Given the description of an element on the screen output the (x, y) to click on. 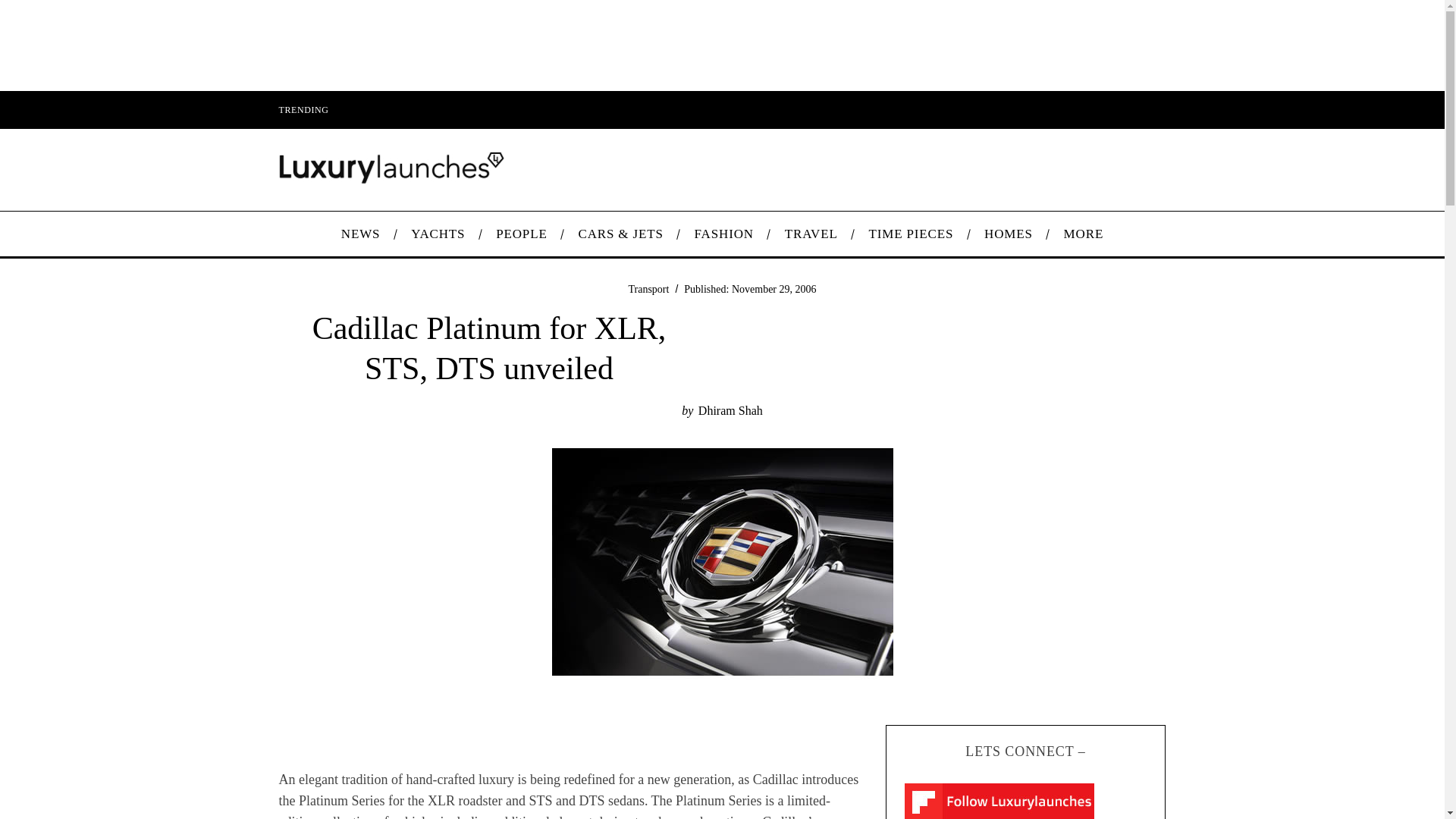
FASHION (723, 233)
TRAVEL (810, 233)
TIME PIECES (911, 233)
MORE (1083, 233)
TRENDING (302, 109)
Dhiram Shah (730, 410)
HOMES (1008, 233)
Transport (647, 288)
